Given the description of an element on the screen output the (x, y) to click on. 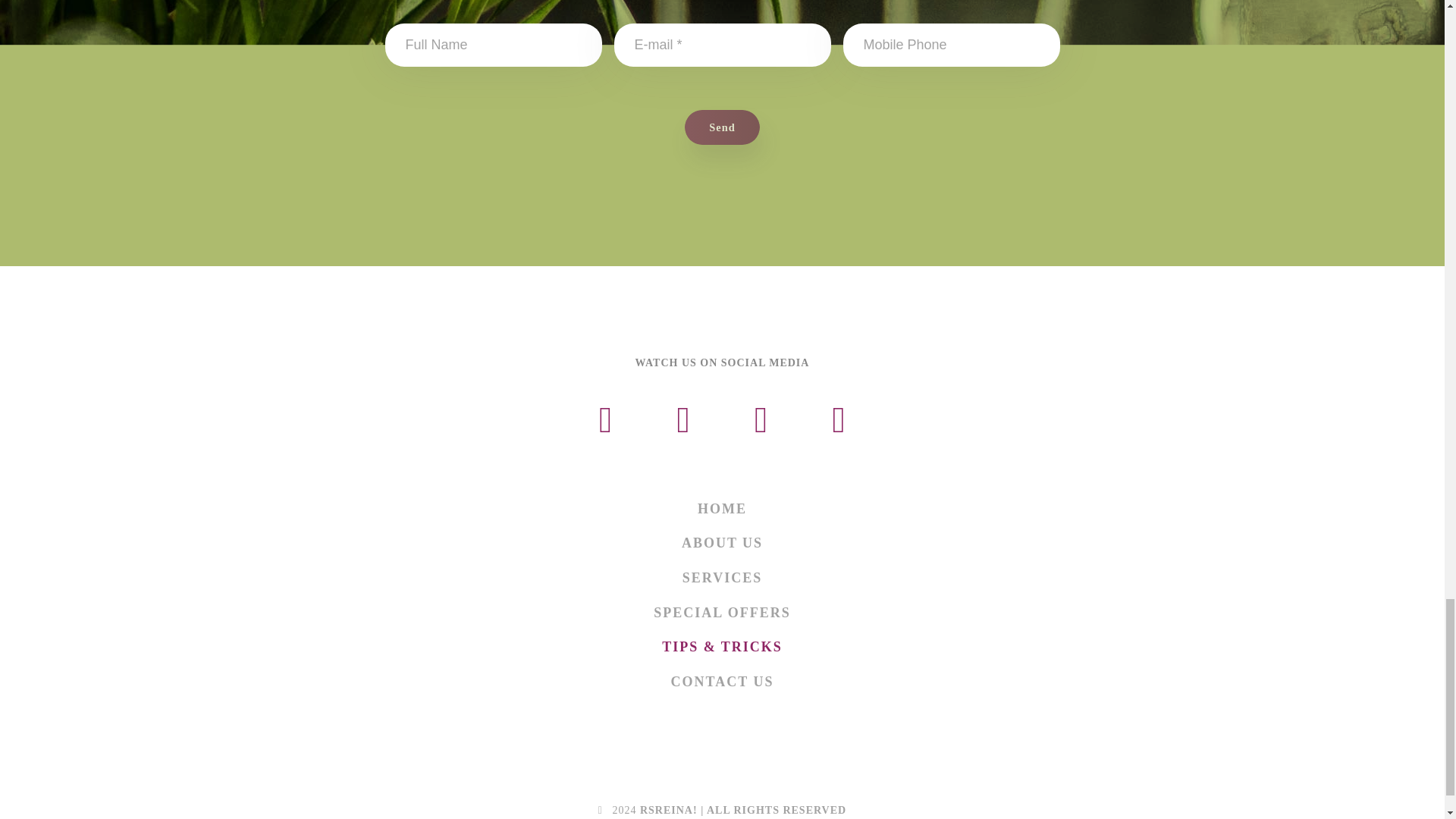
SERVICES (721, 578)
Send (722, 126)
ABOUT US (721, 544)
HOME (721, 509)
